Given the description of an element on the screen output the (x, y) to click on. 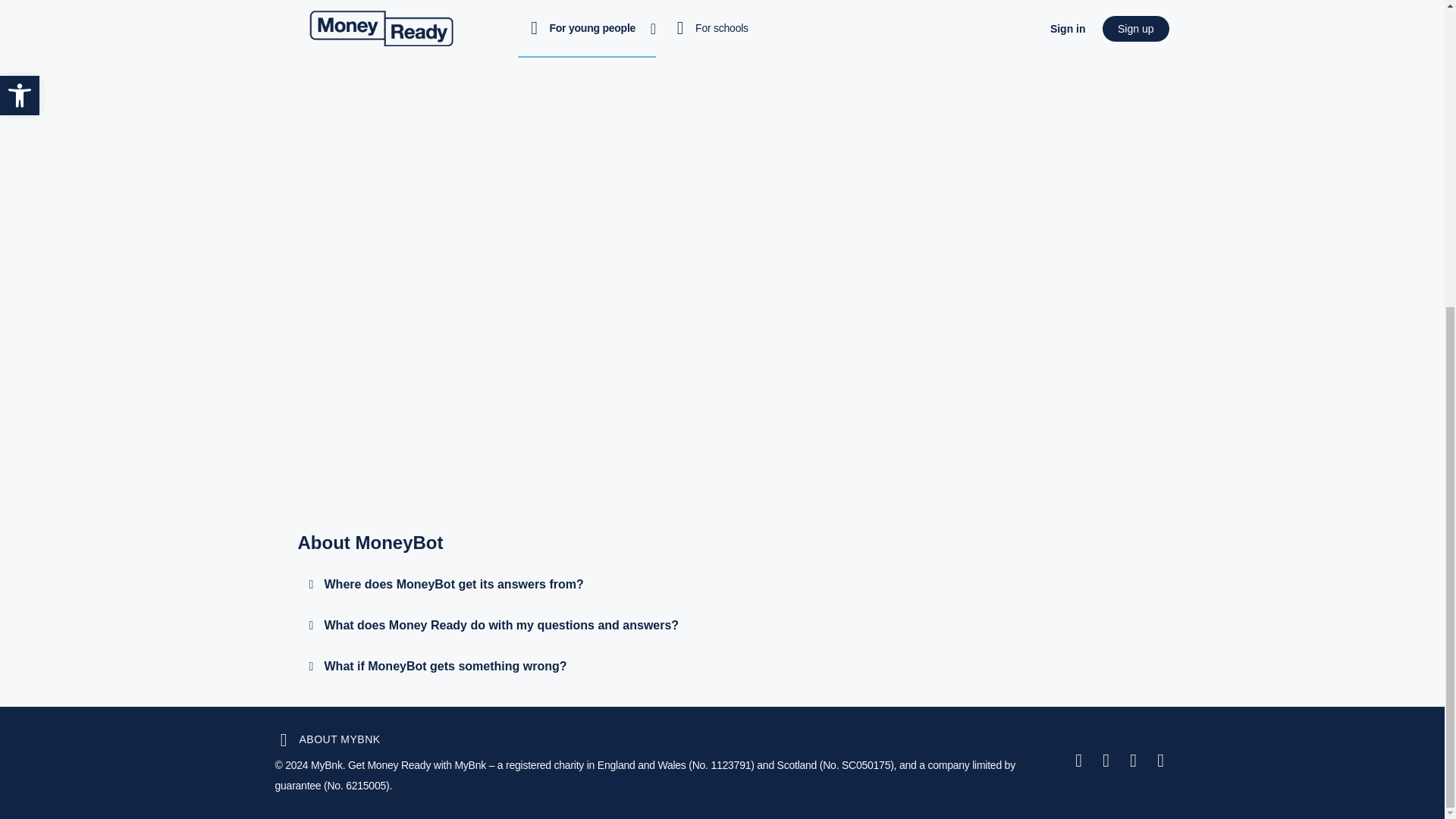
Where does MoneyBot get its answers from? (453, 584)
ABOUT MYBNK (327, 739)
What does Money Ready do with my questions and answers? (501, 625)
What if MoneyBot gets something wrong? (445, 666)
